Given the description of an element on the screen output the (x, y) to click on. 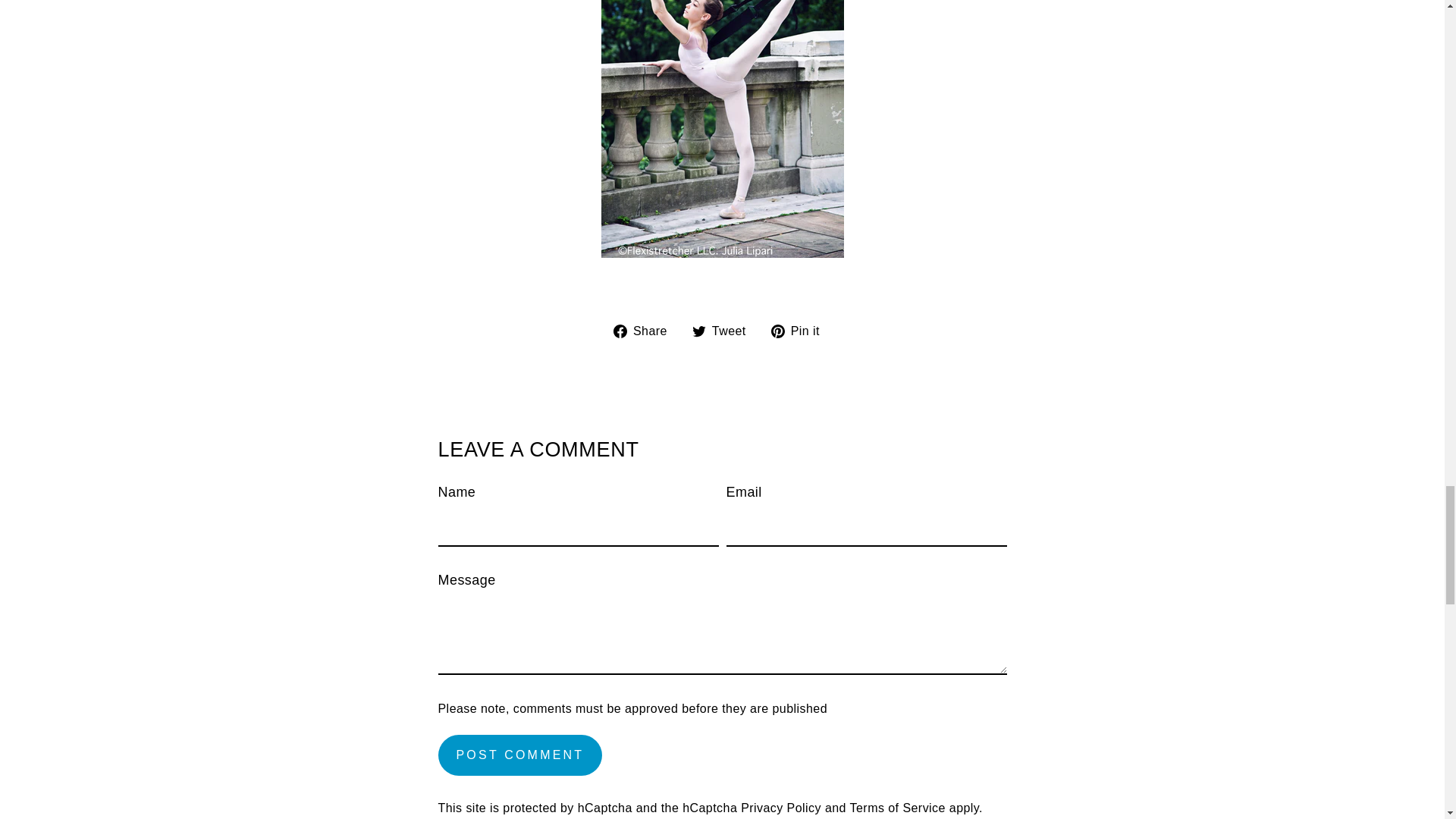
twitter (699, 331)
Post comment (520, 755)
Share on Facebook (645, 331)
Pin on Pinterest (801, 331)
Tweet on Twitter (725, 331)
